Given the description of an element on the screen output the (x, y) to click on. 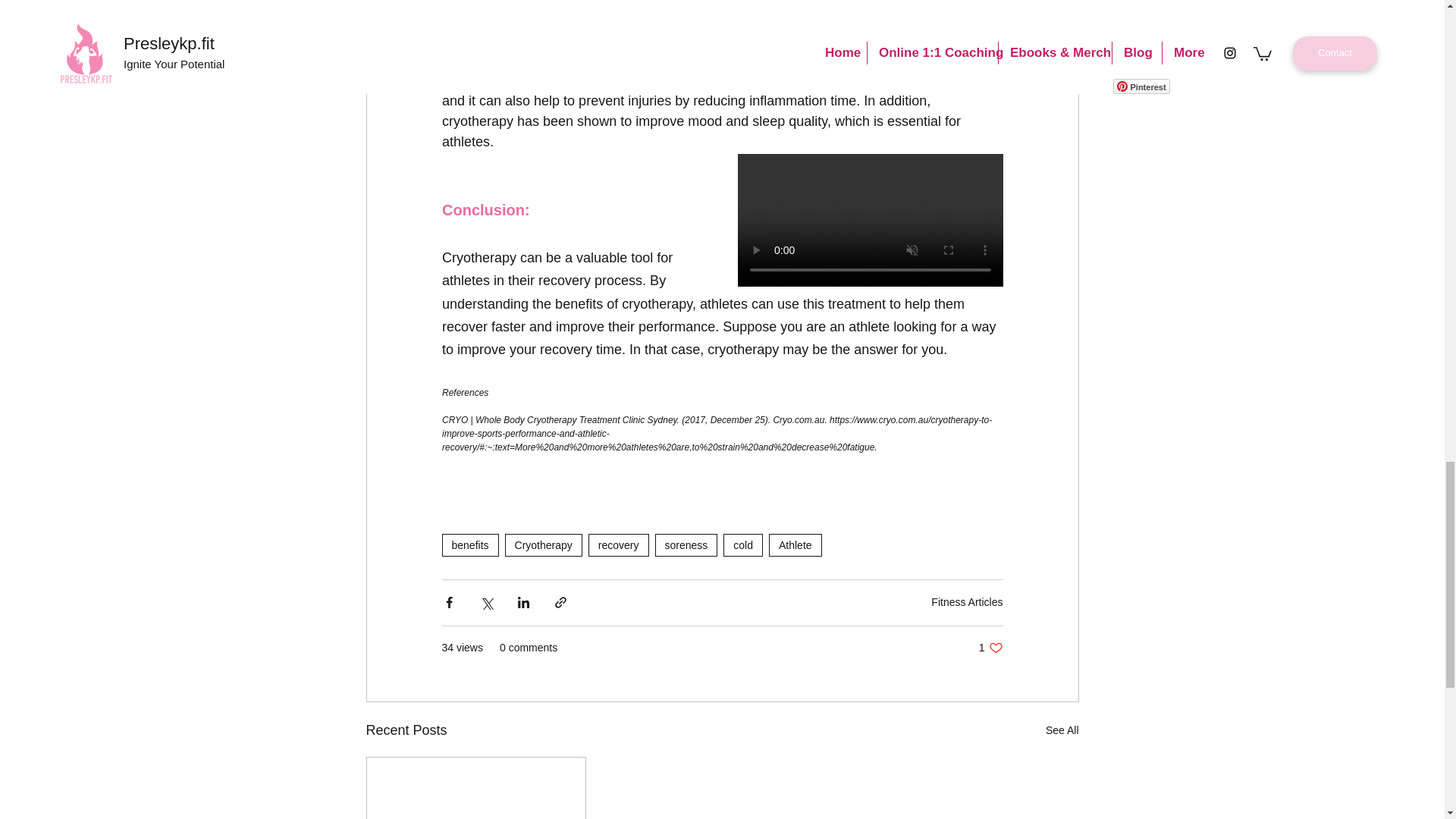
benefits (469, 544)
soreness (686, 544)
Fitness Articles (967, 602)
Athlete (795, 544)
cold (990, 647)
Cryotherapy (742, 544)
recovery (543, 544)
See All (618, 544)
